Given the description of an element on the screen output the (x, y) to click on. 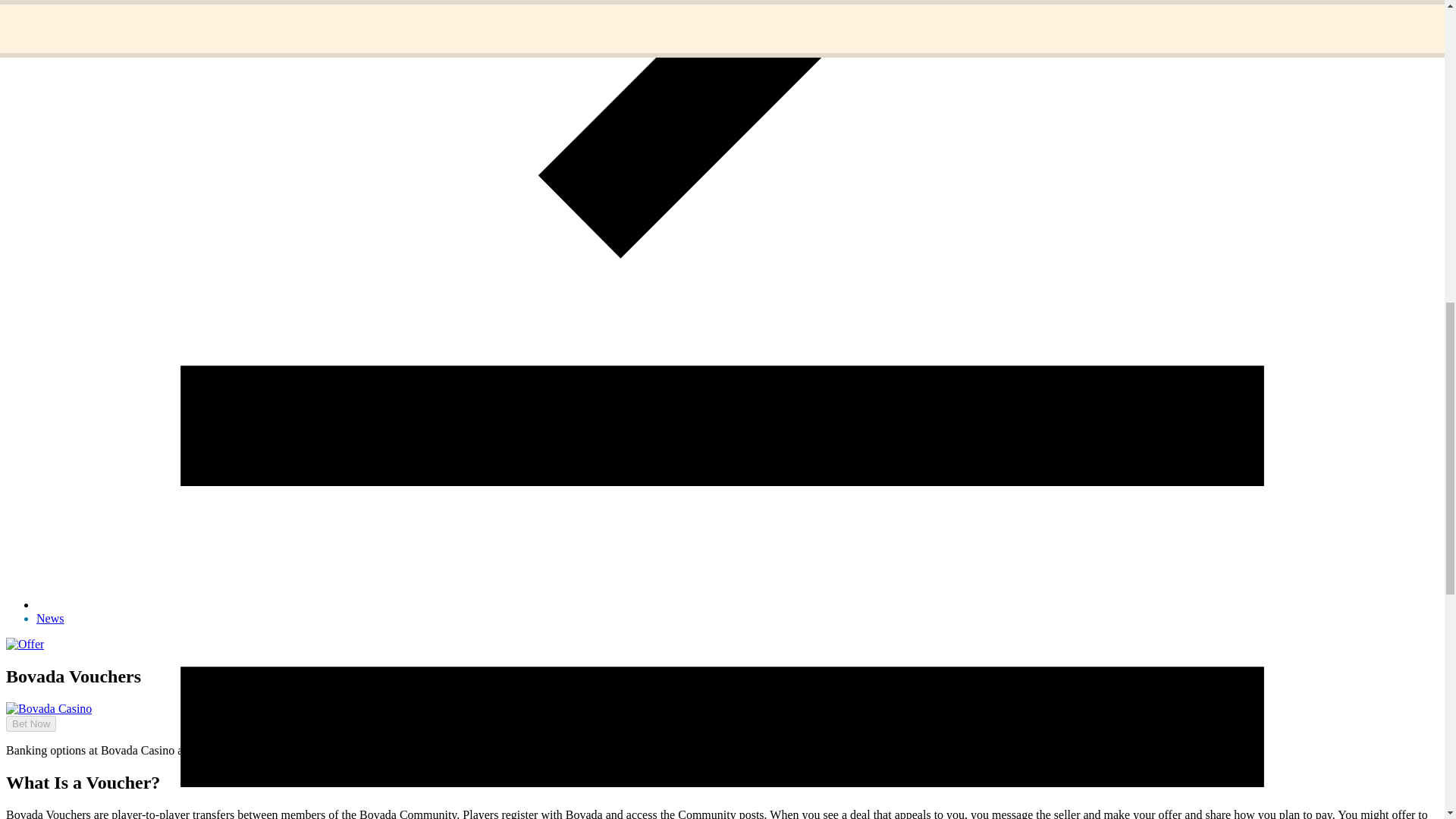
Bet Now (30, 723)
Bet Now (24, 709)
News (50, 617)
